Given the description of an element on the screen output the (x, y) to click on. 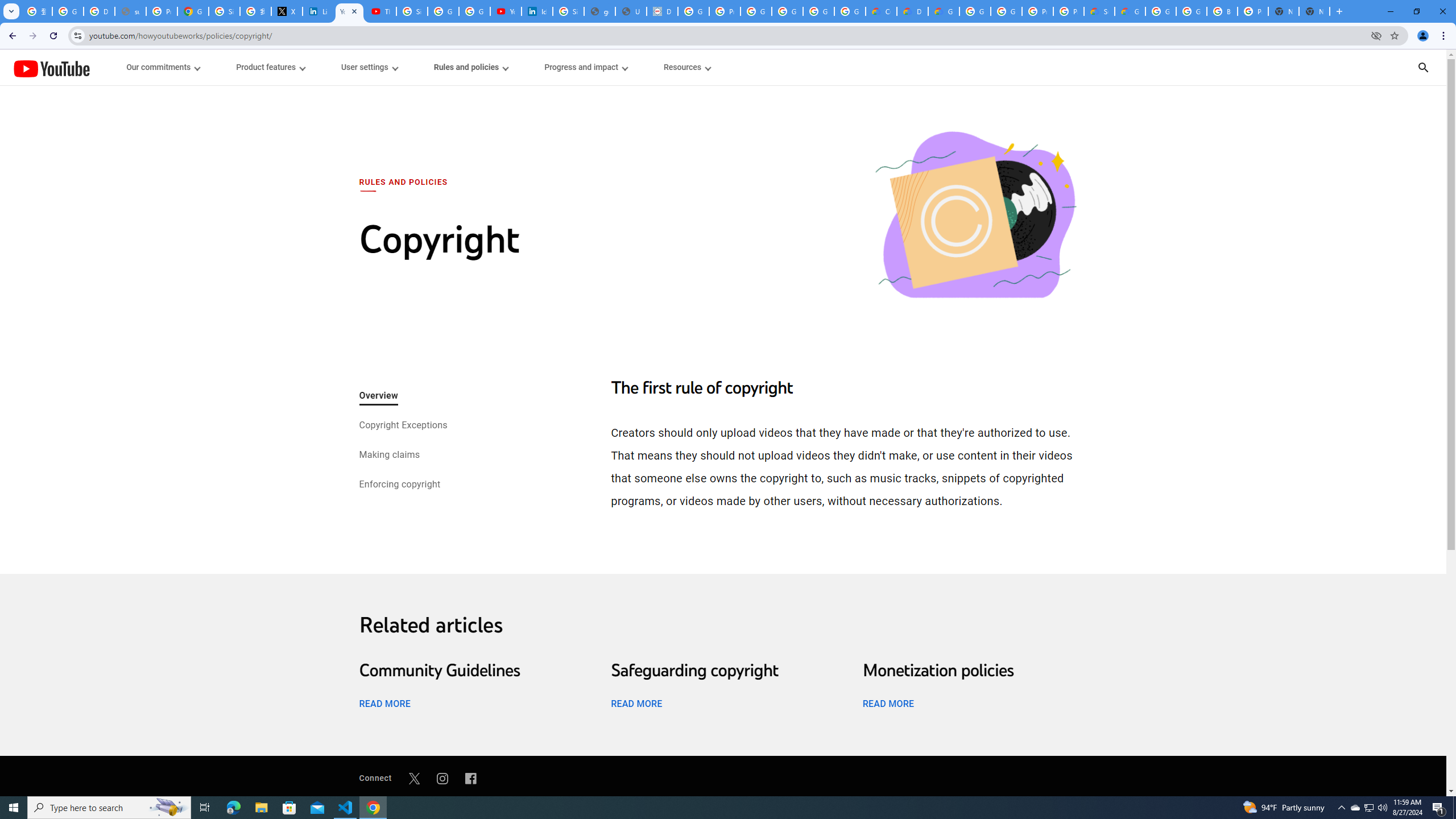
Instagram (442, 778)
Privacy Help Center - Policies Help (161, 11)
Rules and policies menupopup (470, 67)
You (1422, 35)
Gemini for Business and Developers | Google Cloud (943, 11)
Search (1423, 67)
Google Workspace - Specific Terms (849, 11)
Sign in - Google Accounts (411, 11)
